Given the description of an element on the screen output the (x, y) to click on. 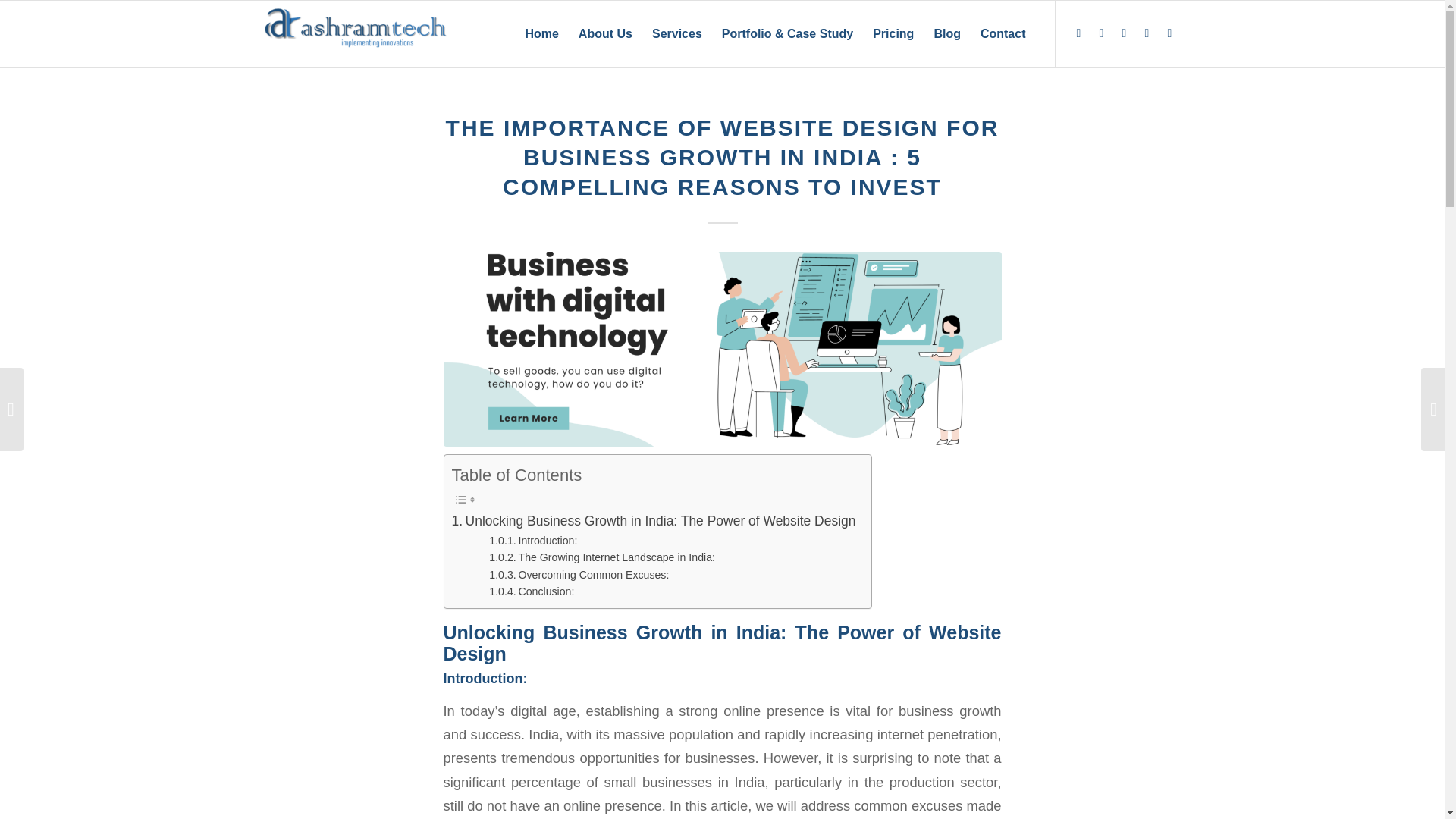
LinkedIn (1078, 33)
Conclusion: (531, 591)
Twitter (1146, 33)
Overcoming Common Excuses: (578, 574)
Website Design Digital Business Blog (721, 348)
Conclusion: (531, 591)
Facebook (1101, 33)
Services (676, 33)
Pricing (893, 33)
Instagram (1124, 33)
Introduction: (532, 540)
About Us (605, 33)
Introduction: (532, 540)
Mail (1169, 33)
